Given the description of an element on the screen output the (x, y) to click on. 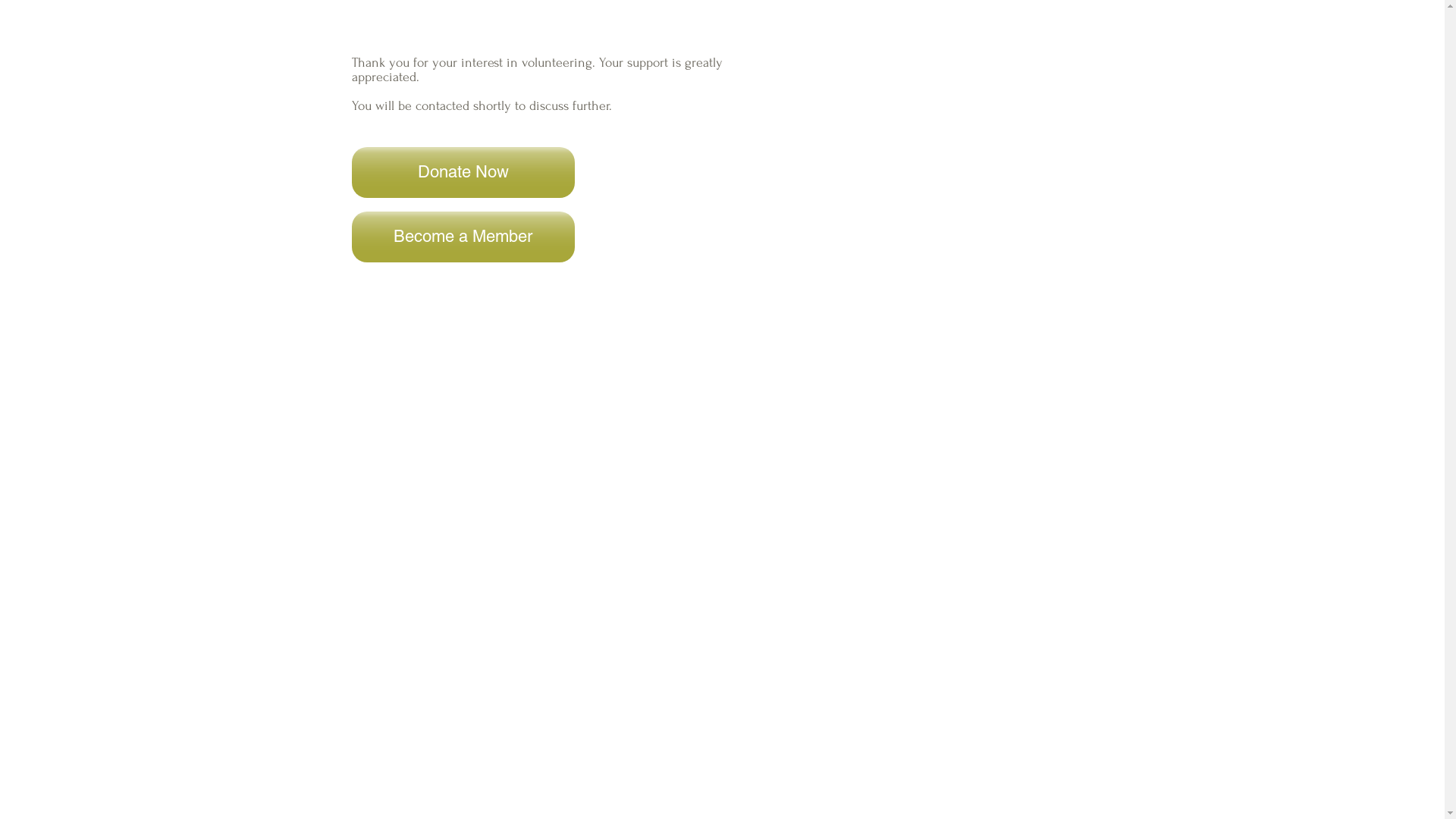
Donate Now Element type: text (462, 172)
Become a Member Element type: text (462, 236)
